Given the description of an element on the screen output the (x, y) to click on. 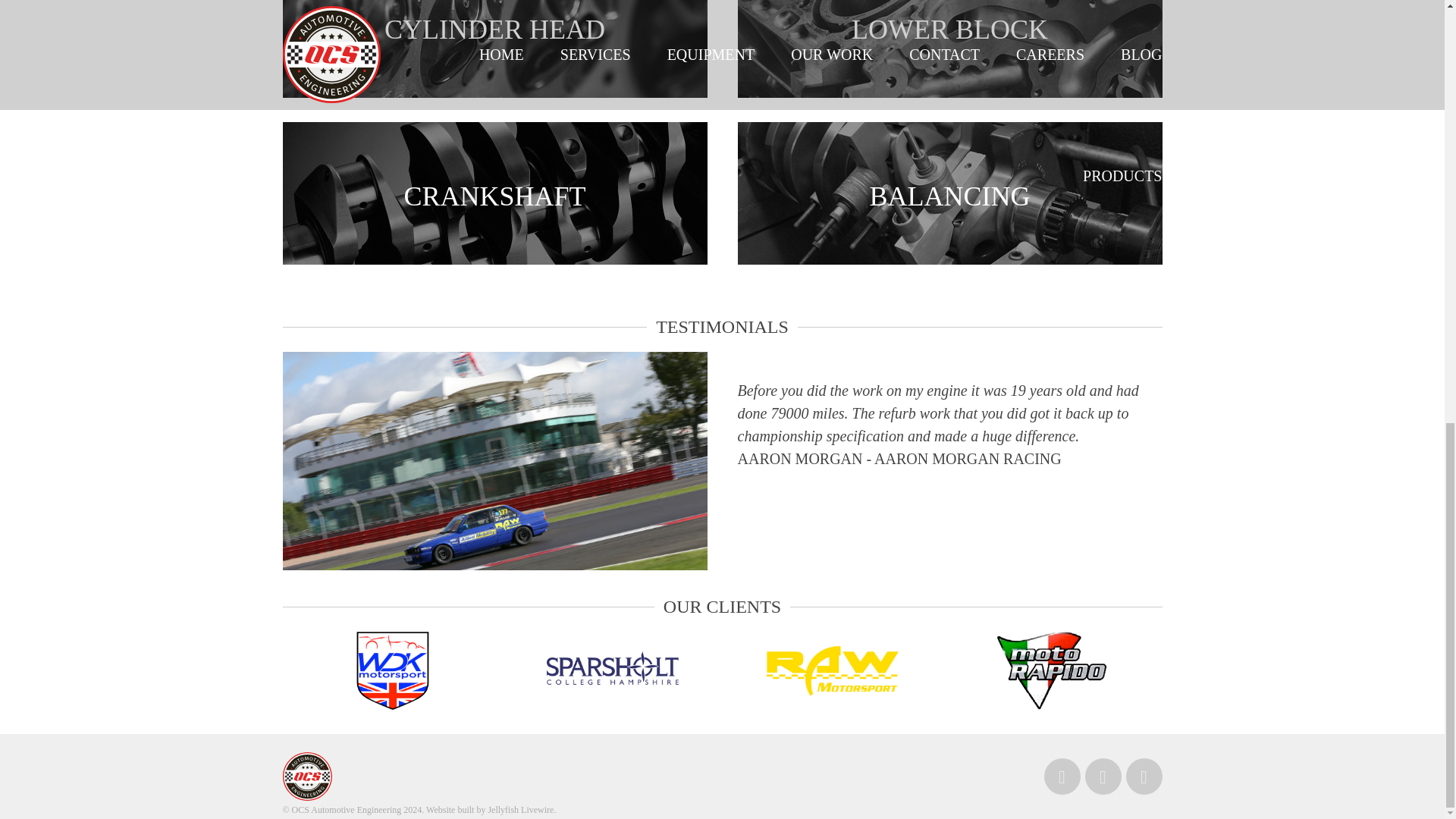
CYLINDER HEAD (494, 48)
LOWER BLOCK (948, 48)
BALANCING (948, 193)
OCS Automotive Engineering (380, 776)
CRANKSHAFT (494, 193)
Jellyfish Livewire (520, 809)
